Given the description of an element on the screen output the (x, y) to click on. 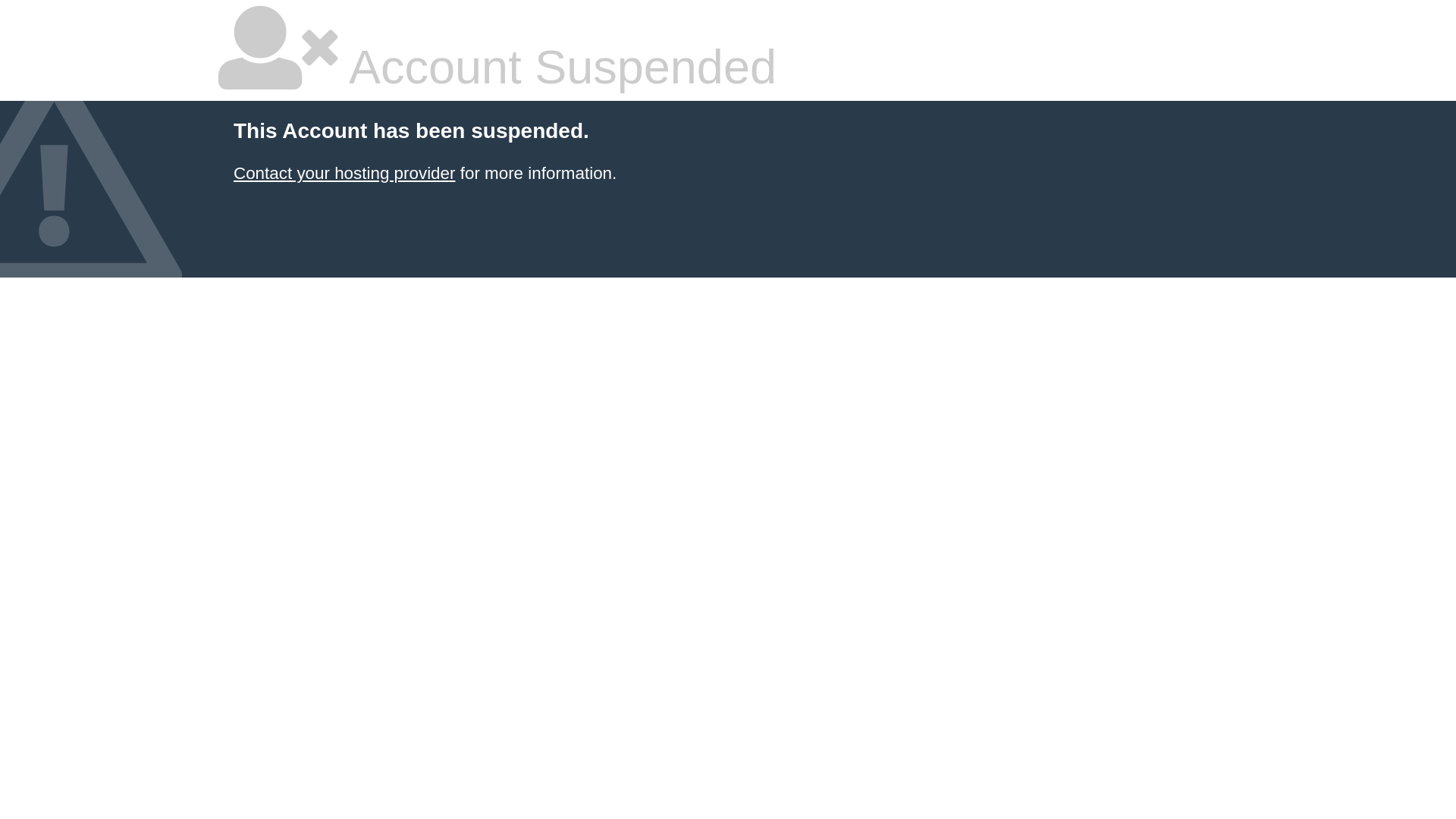
Contact your hosting provider Element type: text (344, 172)
